Given the description of an element on the screen output the (x, y) to click on. 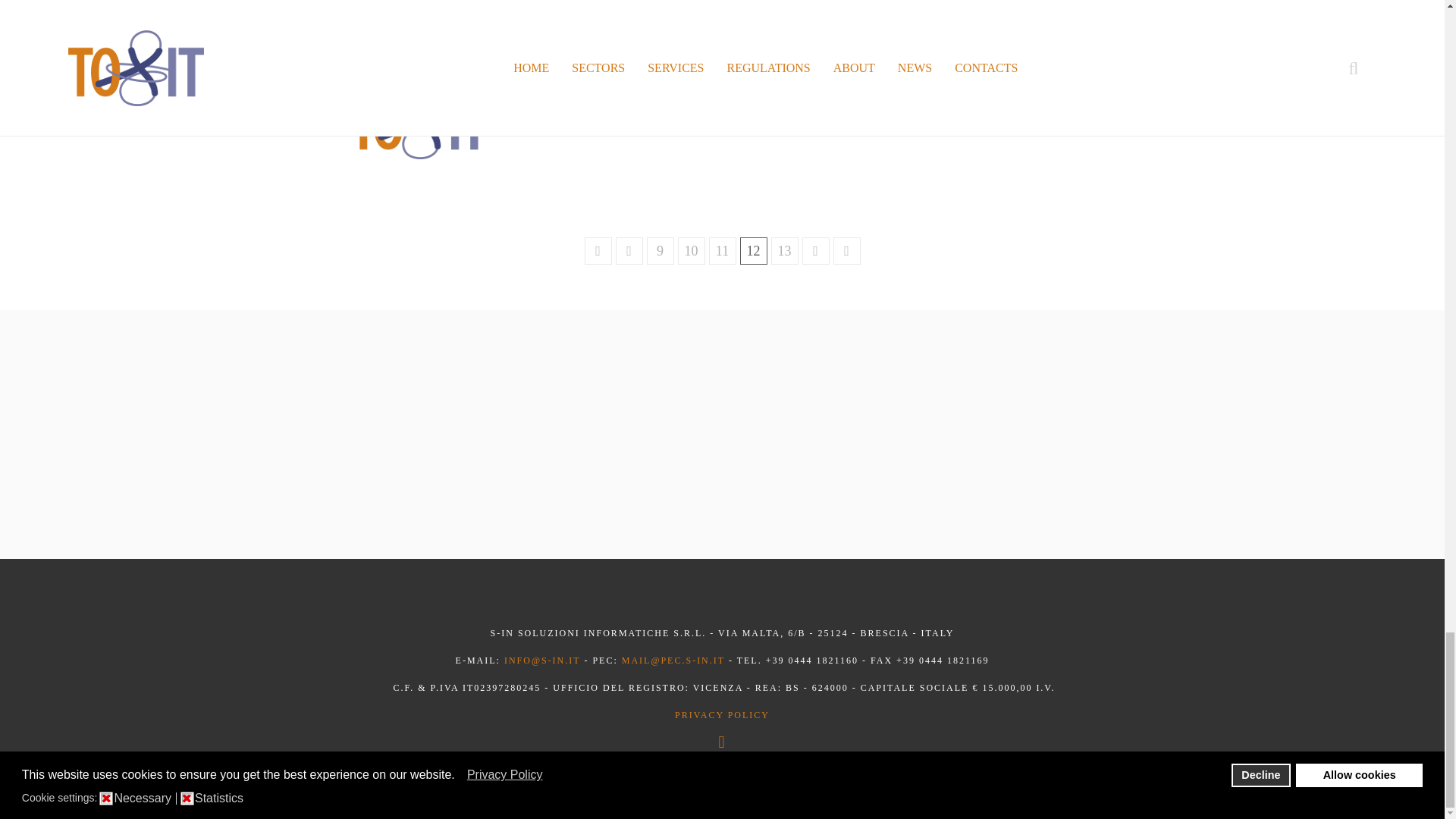
Prev (629, 250)
Start (597, 250)
